Given the description of an element on the screen output the (x, y) to click on. 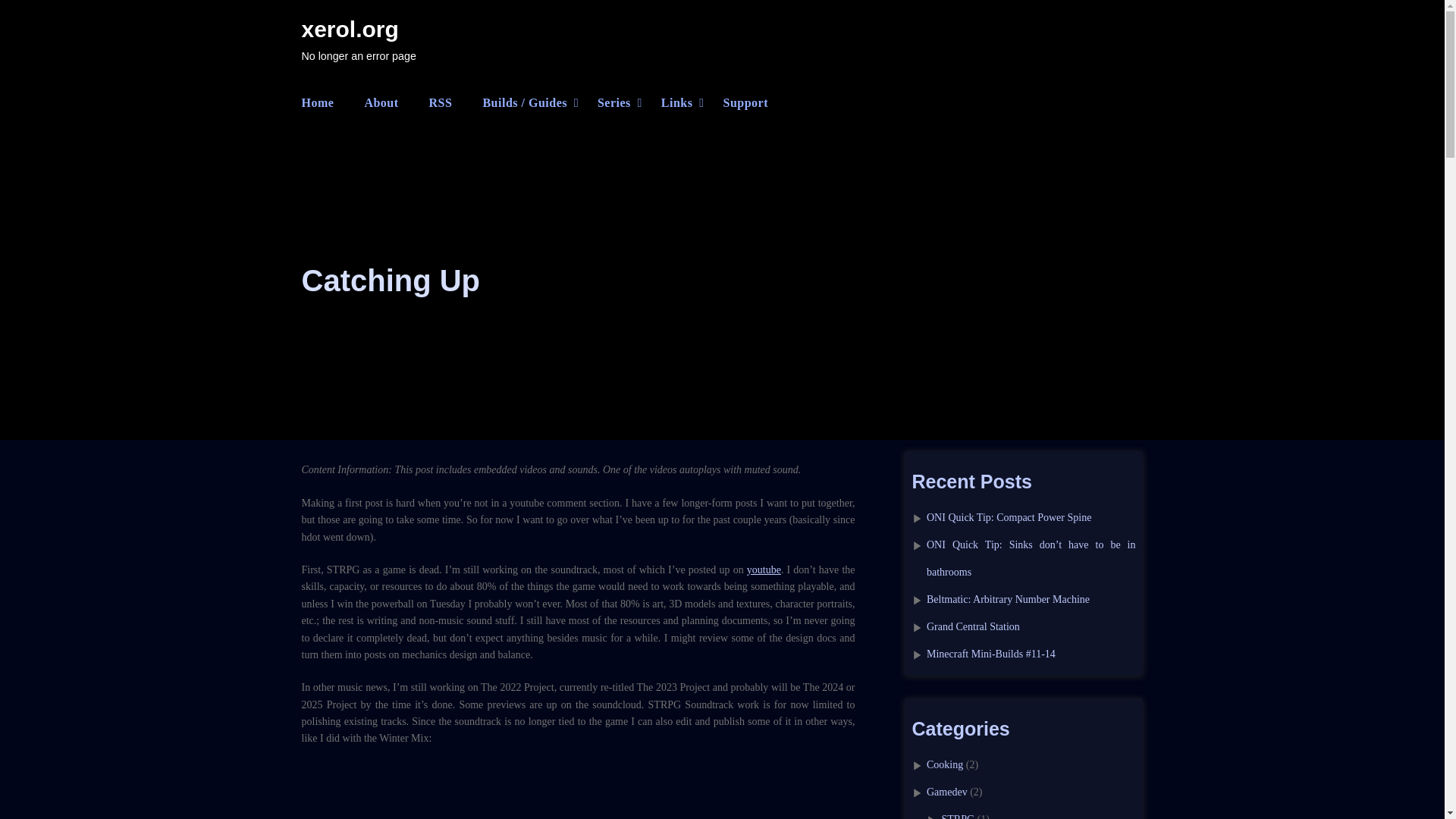
Series (613, 102)
Cooking (944, 764)
Support (745, 102)
xerol.org (349, 28)
STRPG (958, 816)
youtube (763, 569)
Gamedev (947, 791)
About (380, 102)
RSS (440, 102)
Beltmatic: Arbitrary Number Machine (1007, 599)
Grand Central Station (973, 626)
Home (317, 102)
Links (677, 102)
ONI Quick Tip: Compact Power Spine (1008, 517)
